Given the description of an element on the screen output the (x, y) to click on. 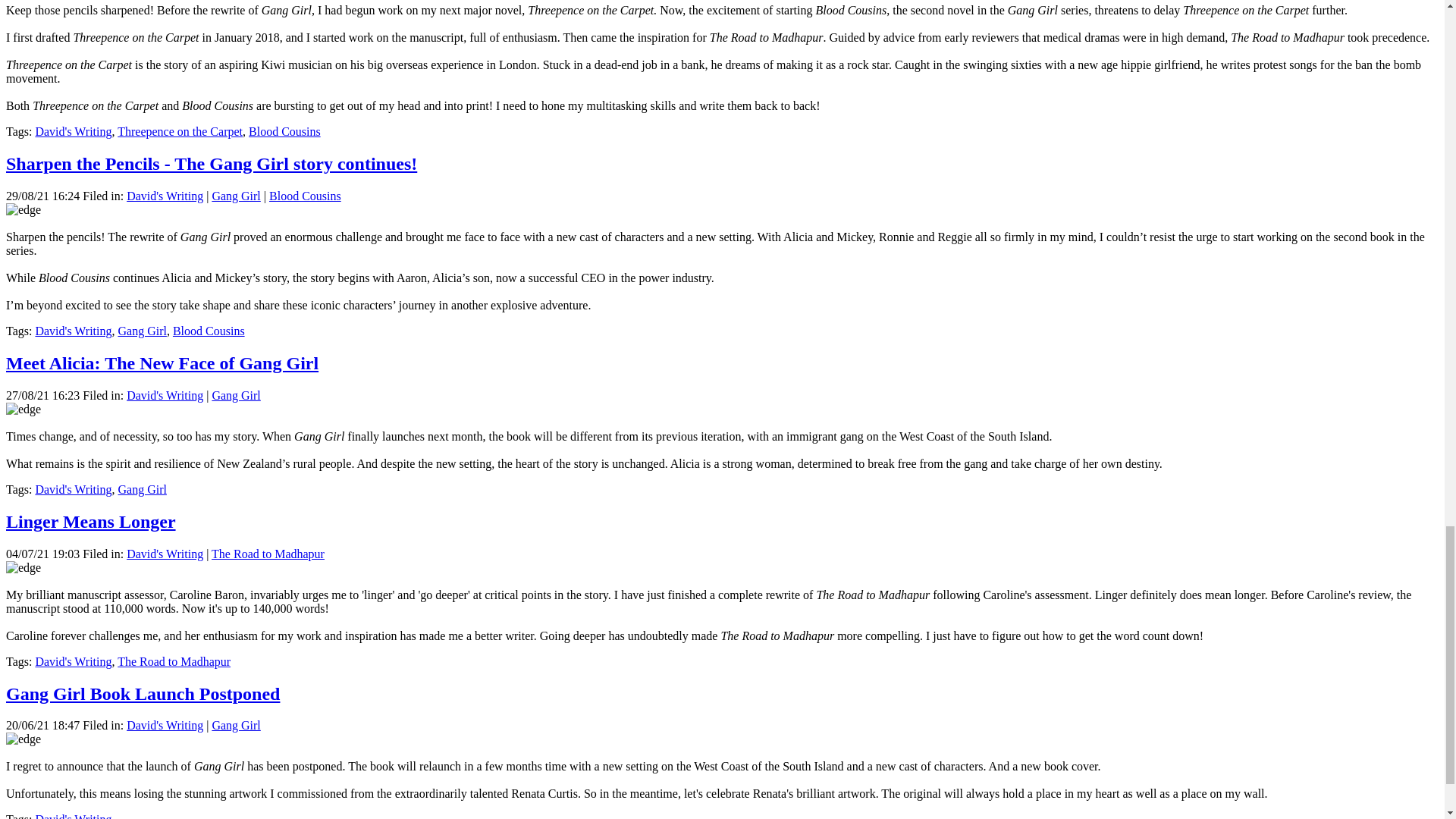
The Road to Madhapur (173, 661)
David's Writing (73, 489)
David's Writing (73, 131)
Threepence on the Carpet (180, 131)
Blood Cousins (284, 131)
Gang Girl (141, 330)
David's Writing (73, 330)
Threepence on the Carpet (180, 131)
David's Writing (164, 195)
Blood Cousins (208, 330)
Blood Cousins (284, 131)
David's Writing (73, 131)
David's Writing (73, 661)
David's Writing (73, 816)
Sharpen the Pencils - The Gang Girl story continues! (210, 163)
